Given the description of an element on the screen output the (x, y) to click on. 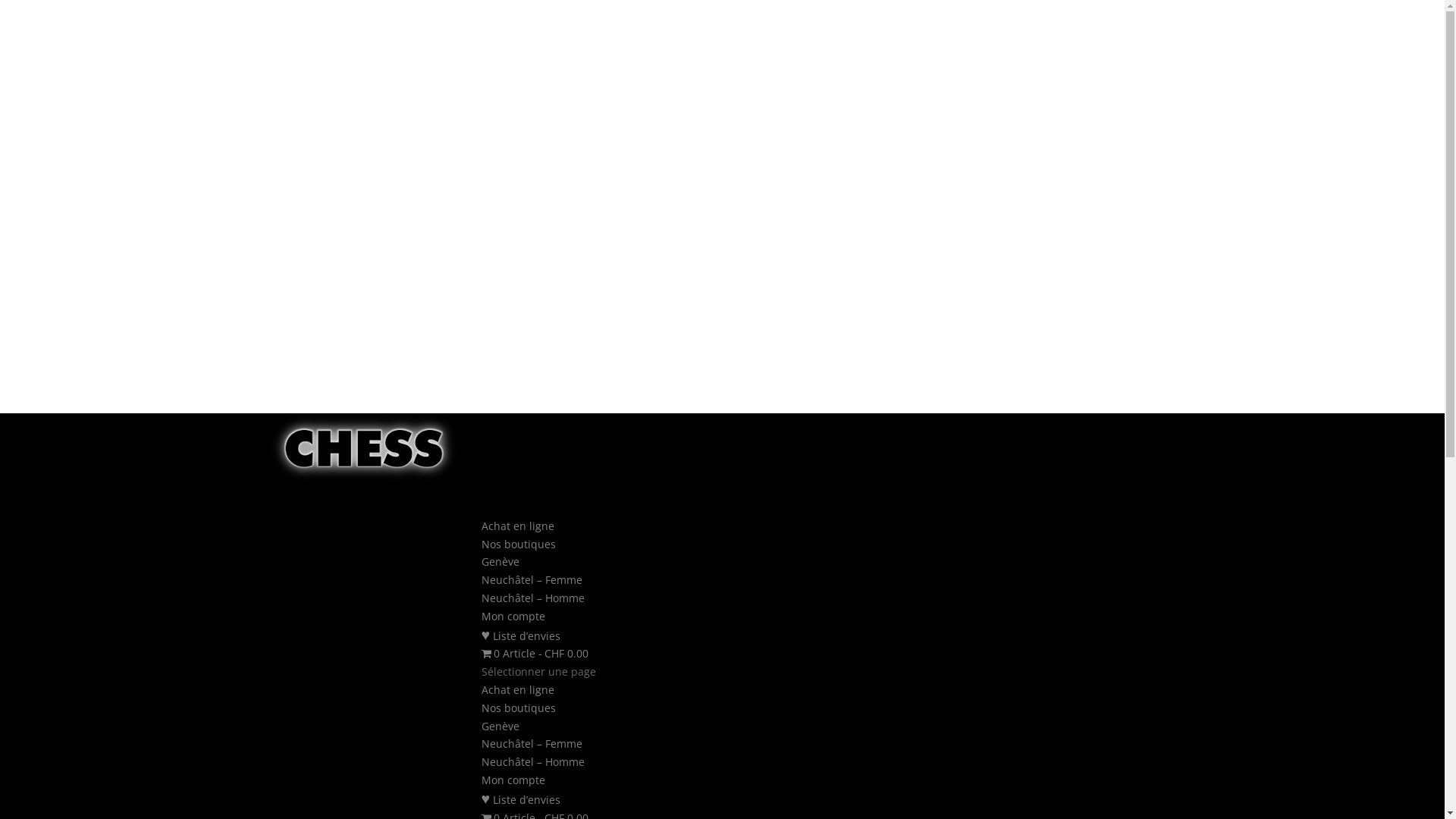
Nos boutiques Element type: text (517, 707)
Nos boutiques Element type: text (517, 558)
Mon compte Element type: text (512, 779)
Achat en ligne Element type: text (516, 540)
0 ArticleCHF 0.00 Element type: text (534, 668)
Mon compte Element type: text (512, 630)
Achat en ligne Element type: text (516, 689)
